Given the description of an element on the screen output the (x, y) to click on. 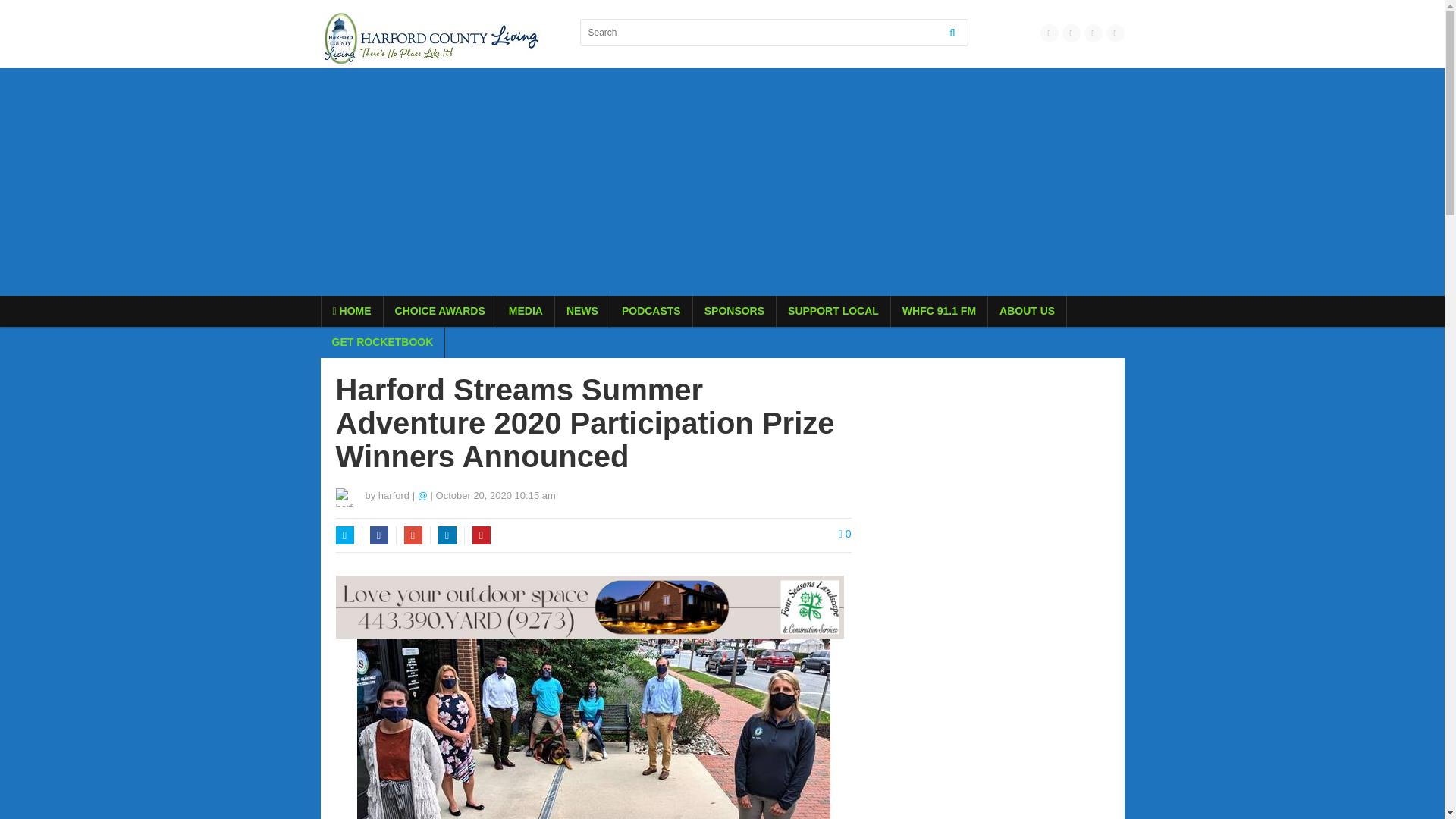
GET ROCKETBOOK (382, 341)
NEWS (582, 310)
MEDIA (525, 310)
HOME (351, 310)
SUPPORT LOCAL (832, 310)
Facebook (378, 535)
LinkedIn (447, 535)
PODCASTS (651, 310)
0 (844, 533)
WHFC 91.1 FM (939, 310)
SPONSORS (734, 310)
CHOICE AWARDS (440, 310)
Twitter (343, 535)
Pinterest (480, 535)
ABOUT US (1026, 310)
